Given the description of an element on the screen output the (x, y) to click on. 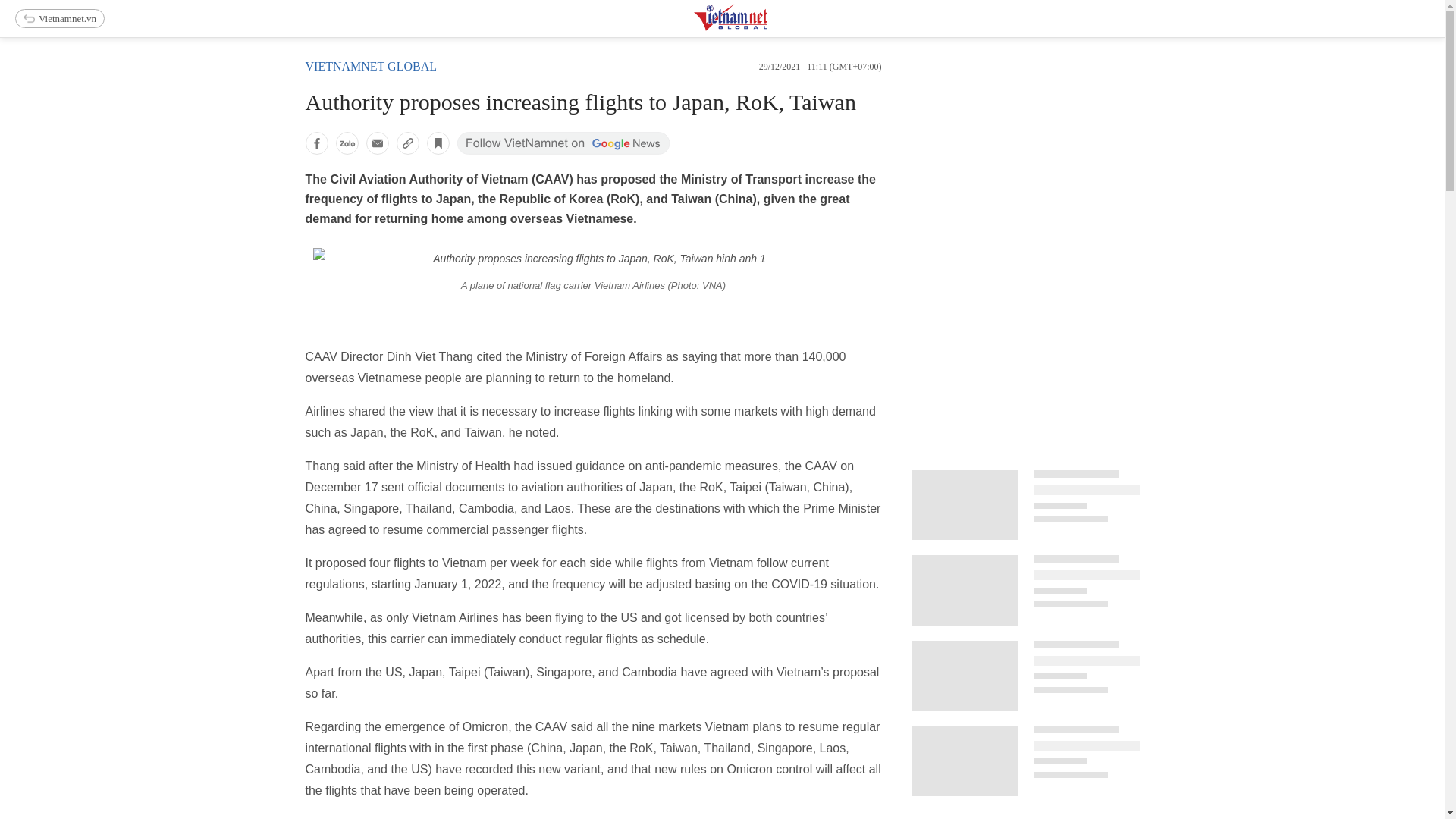
Vietnamnet global (369, 65)
Save post (437, 142)
Share the post on zalo (346, 142)
VIETNAMNET GLOBAL (369, 65)
Copy link (407, 142)
Share the post on email (376, 142)
Vietnamnet Global (768, 26)
Share the post on facebook (315, 142)
Vietnamnet.vn (59, 18)
